Given the description of an element on the screen output the (x, y) to click on. 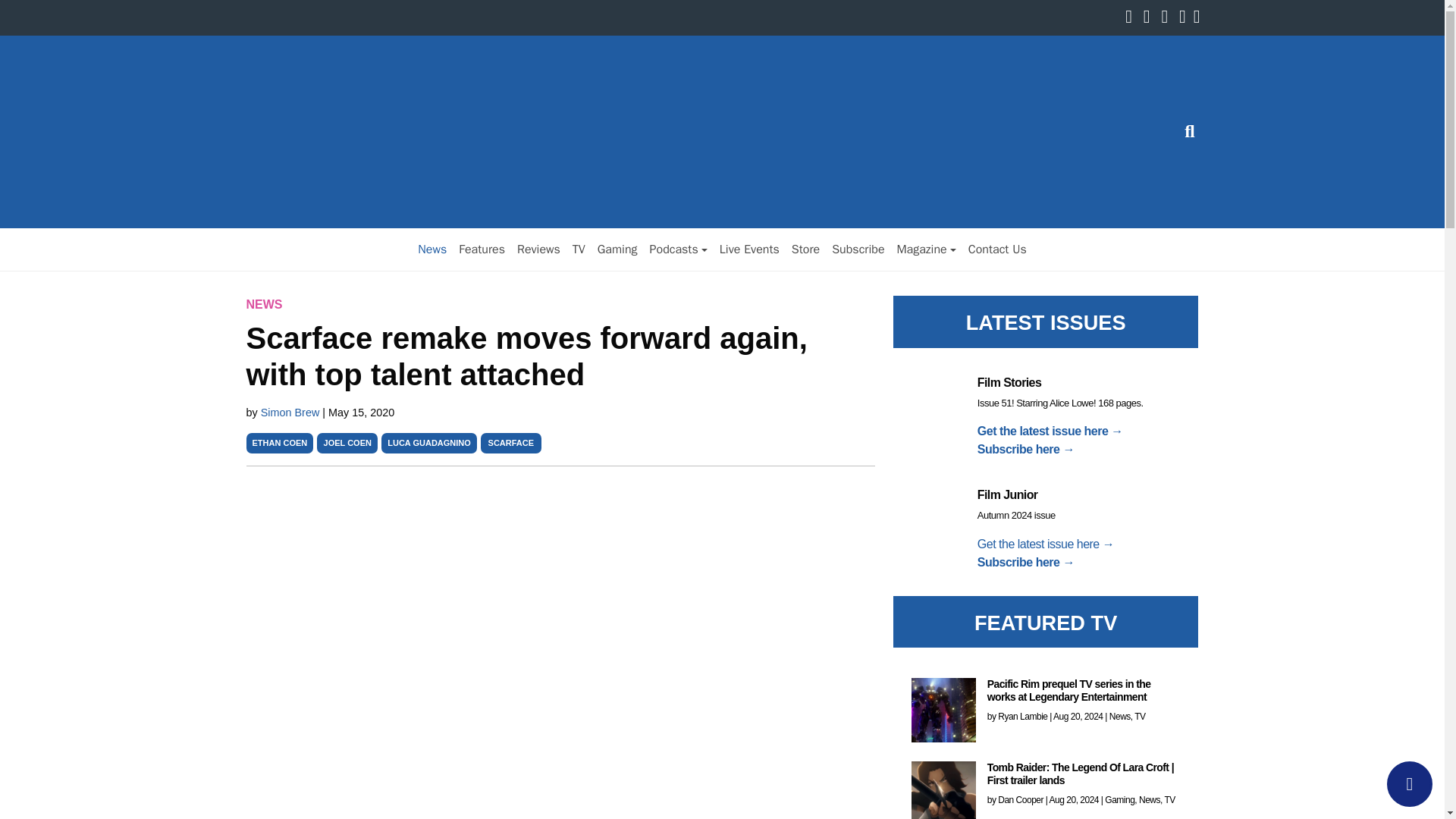
JOEL COEN (347, 442)
Gaming (617, 249)
Reviews (538, 249)
LUCA GUADAGNINO (428, 442)
Features (481, 249)
Luca Guadagnino (428, 442)
NEWS (264, 304)
ETHAN COEN (279, 442)
Follow us on Twitter (1149, 18)
Simon Brew (291, 412)
